Given the description of an element on the screen output the (x, y) to click on. 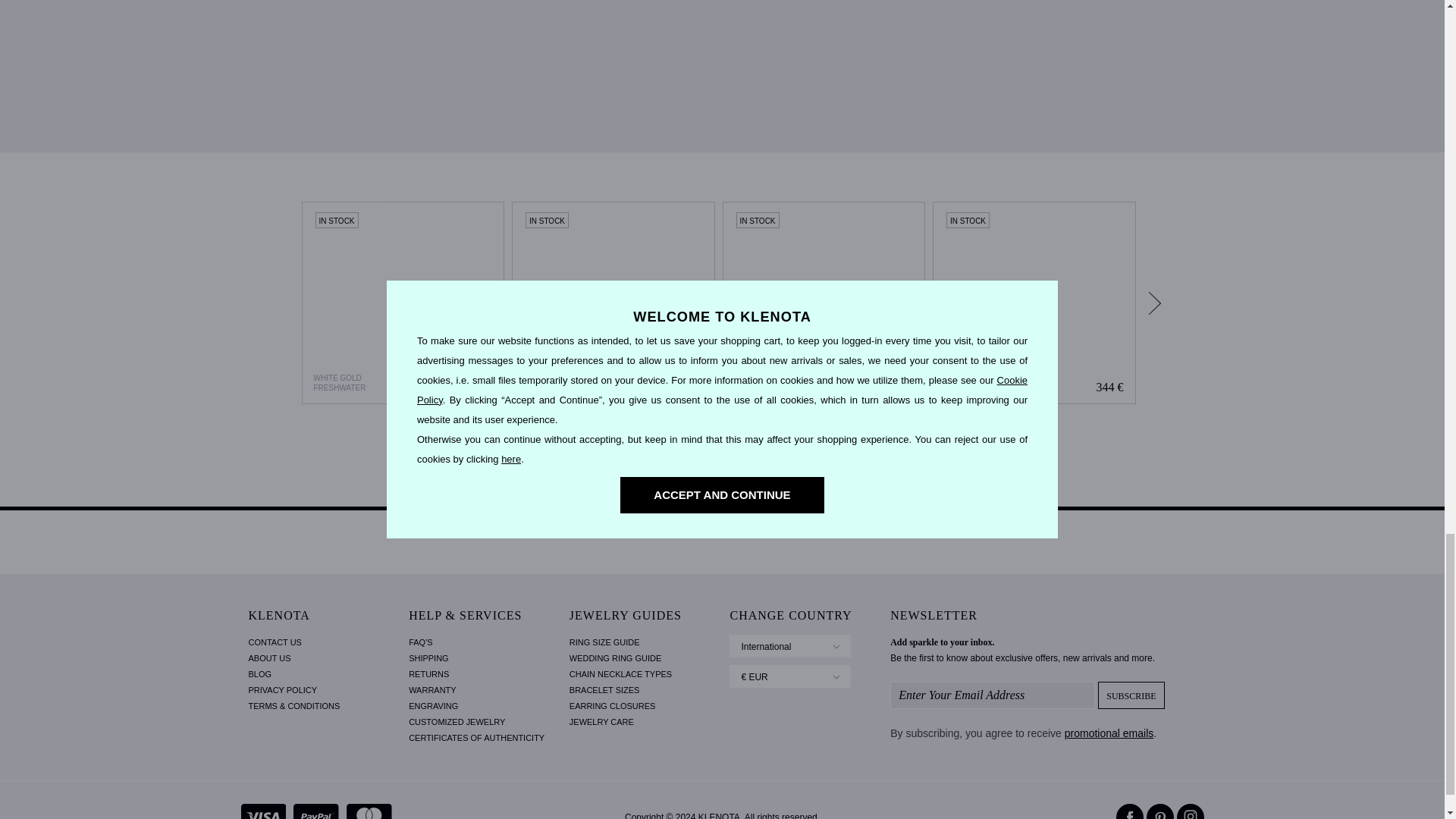
Pinterest (1160, 811)
Black Spinel and Pearl Gold Bracelet (613, 302)
White Pearl Chain Bracelet in Yellow Gold (1034, 303)
Pearl Bracelet with White Gold Fastening (402, 303)
Black Spinel and Pearl Gold Bracelet (613, 303)
Pearl Bracelet in Rose Gold (823, 303)
Facebook (1129, 811)
White Pearl Chain Bracelet in Yellow Gold (1034, 302)
Instagram (1190, 811)
Pearl Bracelet in Rose Gold (823, 302)
Pearl Bracelet with White Gold Fastening (403, 302)
